Given the description of an element on the screen output the (x, y) to click on. 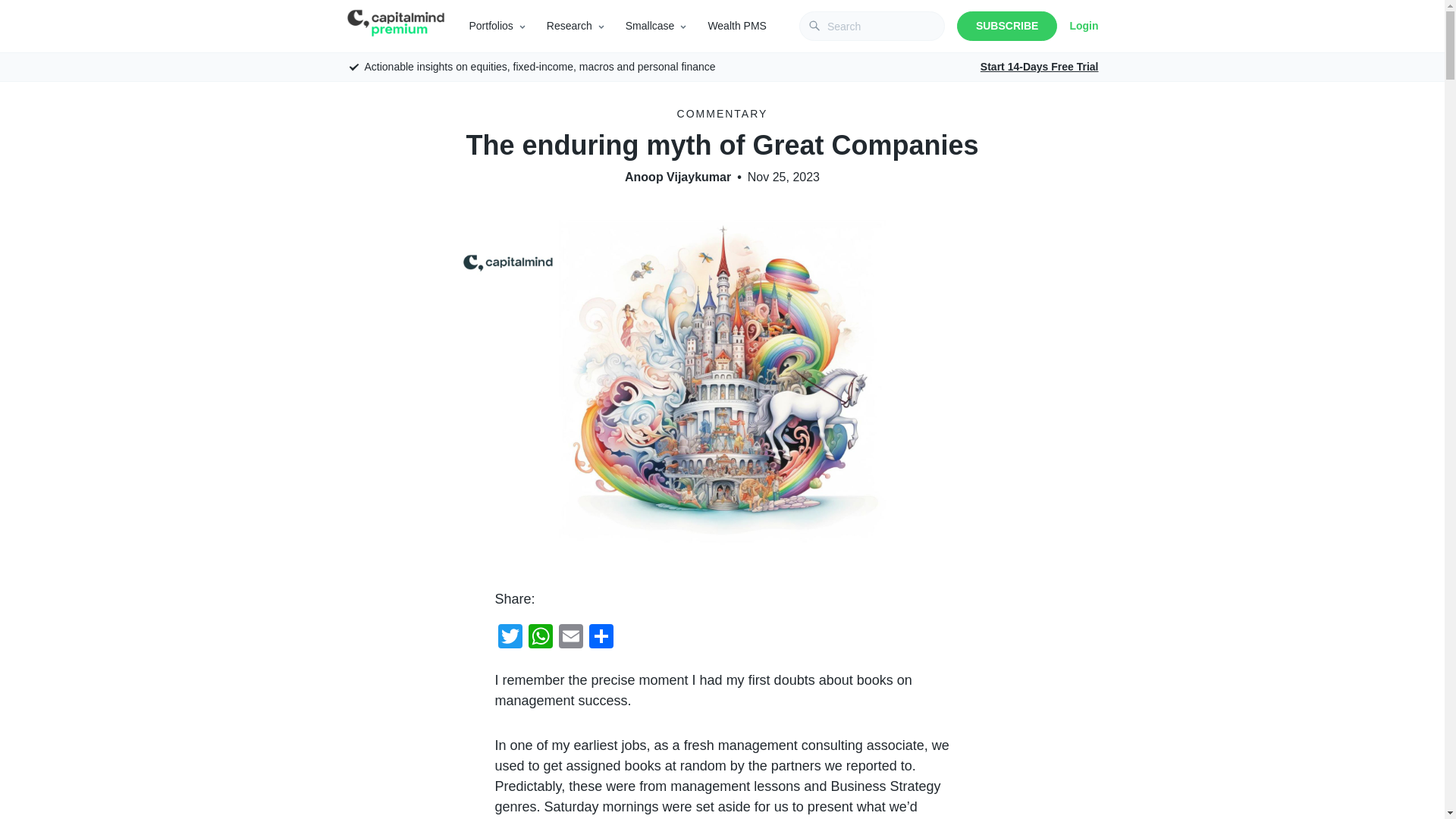
Search (21, 7)
Smallcase (650, 26)
Research (569, 26)
Wealth PMS (737, 25)
Portfolios (490, 26)
Login (1082, 26)
SUBSCRIBE (1006, 25)
Posts by Anoop Vijaykumar (677, 177)
